Given the description of an element on the screen output the (x, y) to click on. 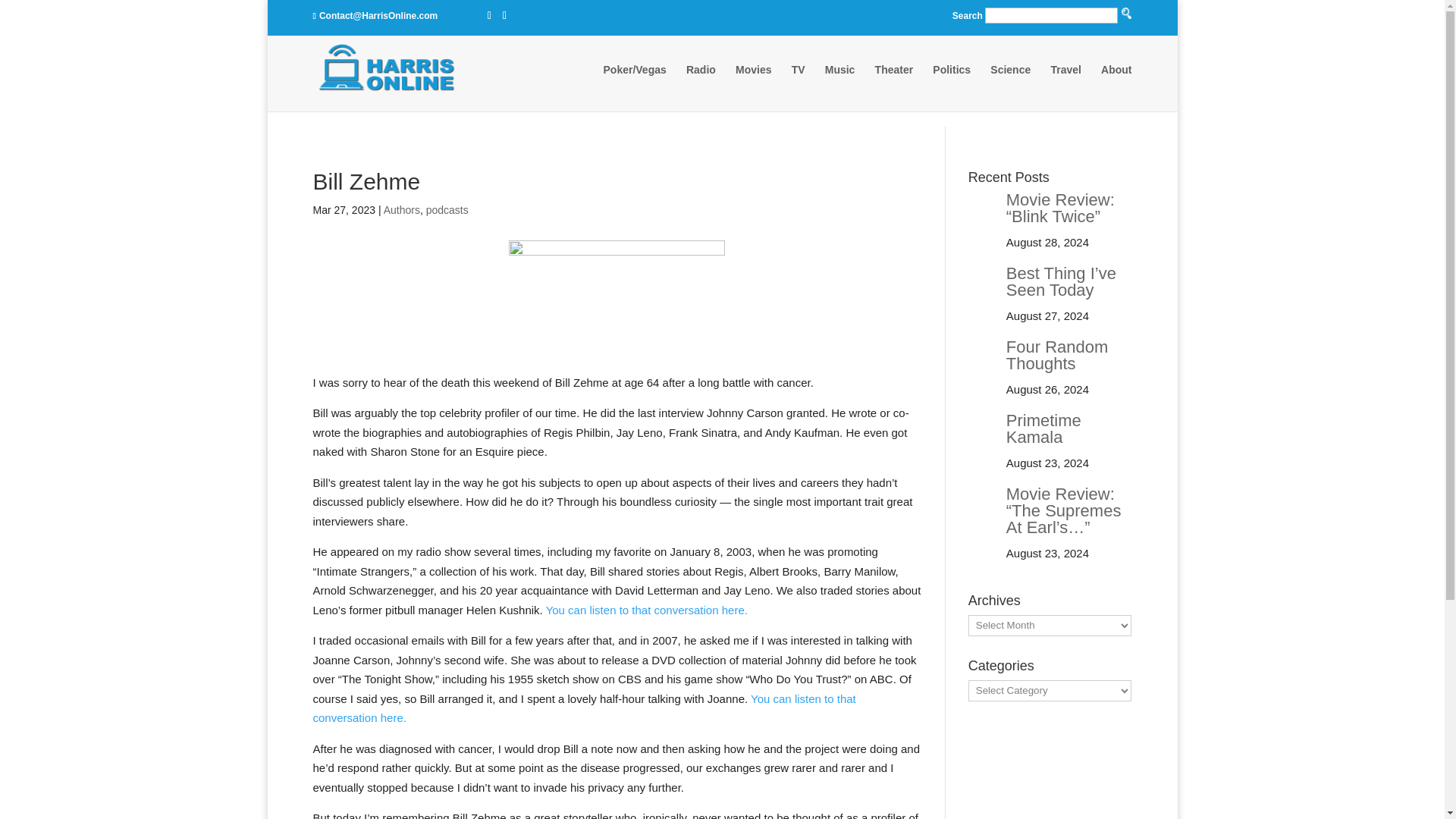
Search (790, 128)
You can listen to that conversation here. (647, 609)
Four Random Thoughts (1057, 355)
Politics (952, 84)
podcasts (447, 209)
Theater (894, 84)
Authors (402, 209)
You can listen to that conversation here. (584, 707)
Science (1010, 84)
Movies (753, 84)
